Given the description of an element on the screen output the (x, y) to click on. 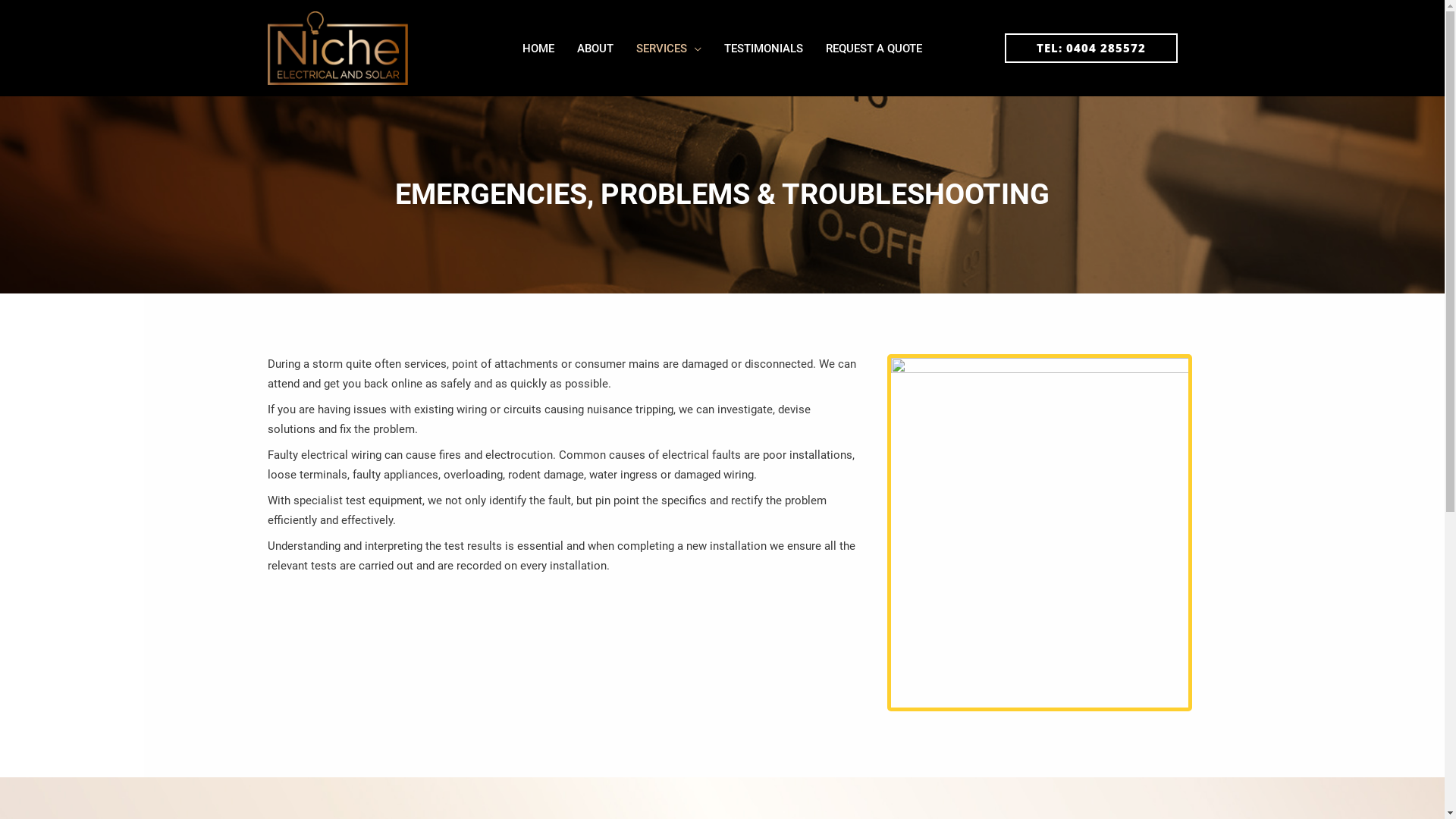
ABOUT Element type: text (594, 48)
HOME Element type: text (538, 48)
TEL: 0404 285572 Element type: text (1090, 47)
SERVICES Element type: text (668, 48)
TESTIMONIALS Element type: text (763, 48)
REQUEST A QUOTE Element type: text (873, 48)
